Given the description of an element on the screen output the (x, y) to click on. 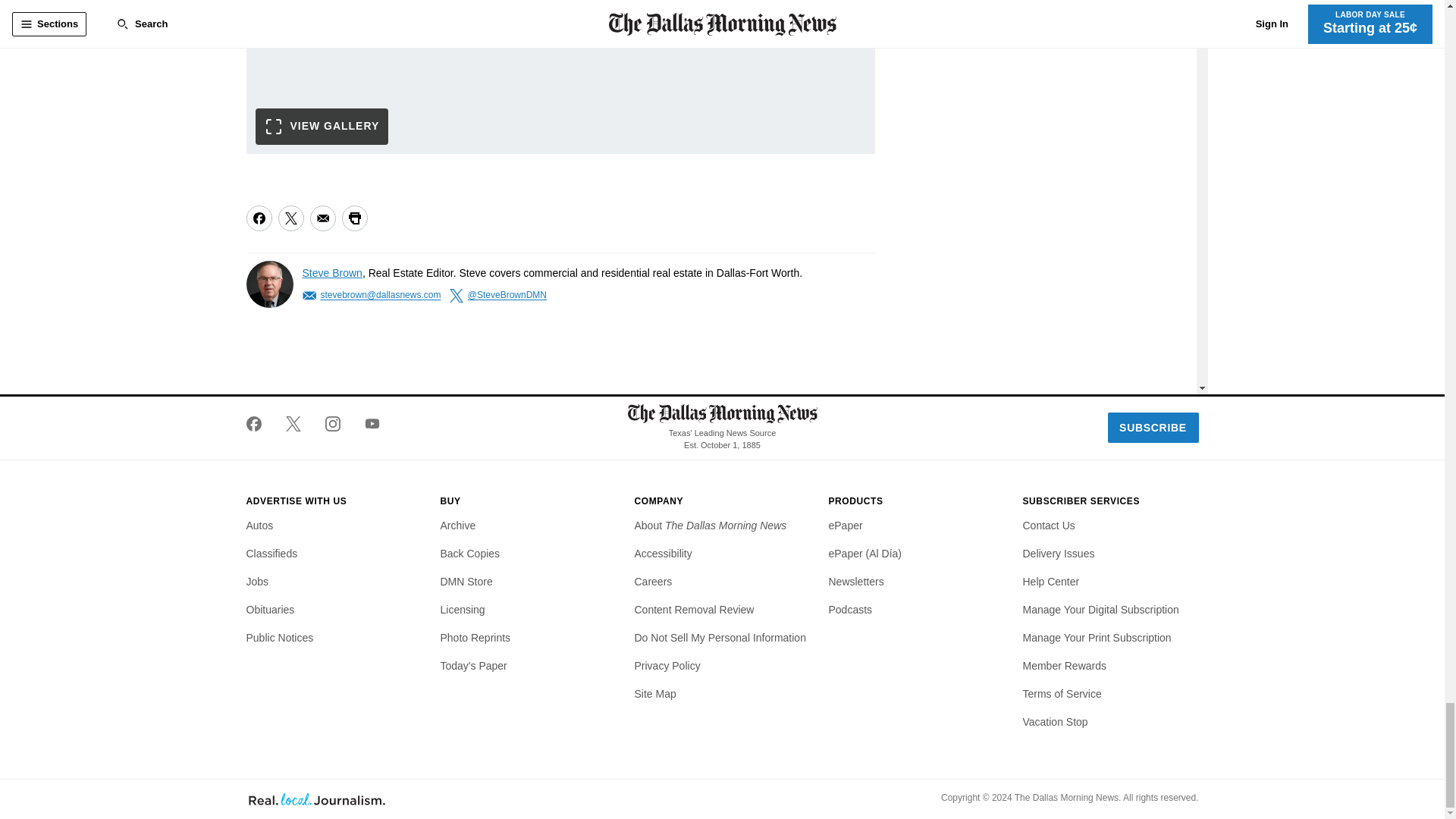
Print (353, 217)
The Dallas Morning News on Facebook (259, 423)
The Dallas Morning News on Twitter (293, 423)
Share on Twitter (290, 217)
Share on Facebook (258, 217)
The Dallas Morning News on YouTube (365, 423)
Share via Email (321, 217)
The Dallas Morning News on Instagram (332, 423)
